Given the description of an element on the screen output the (x, y) to click on. 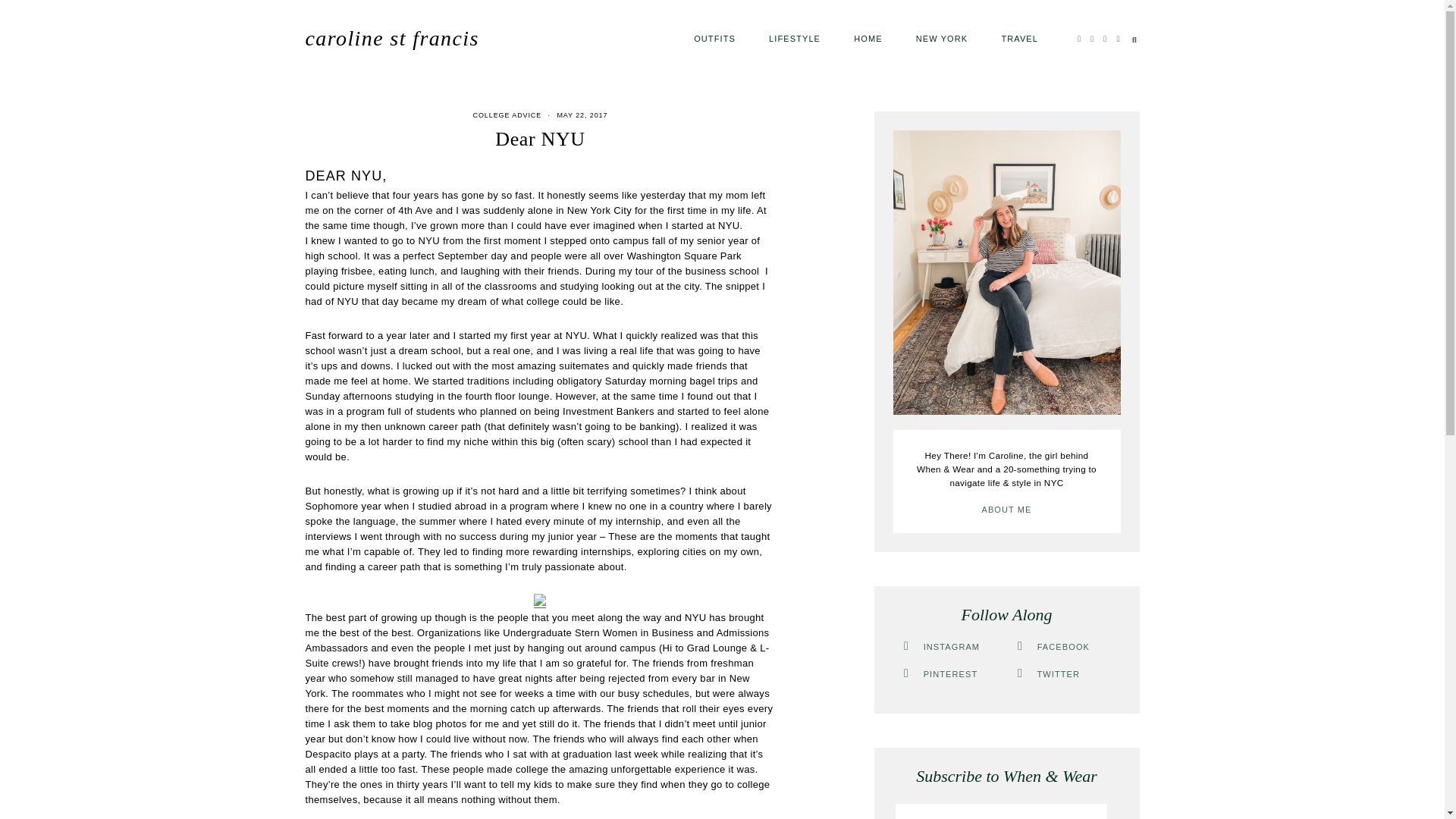
View all posts in COLLEGE ADVICE (507, 114)
NEW YORK (941, 38)
COLLEGE ADVICE (507, 114)
OUTFITS (714, 38)
ABOUT ME (1005, 510)
caroline st francis (391, 37)
TRAVEL (1019, 38)
HOME (867, 38)
INSTAGRAM (940, 646)
TWITTER (1047, 673)
